Given the description of an element on the screen output the (x, y) to click on. 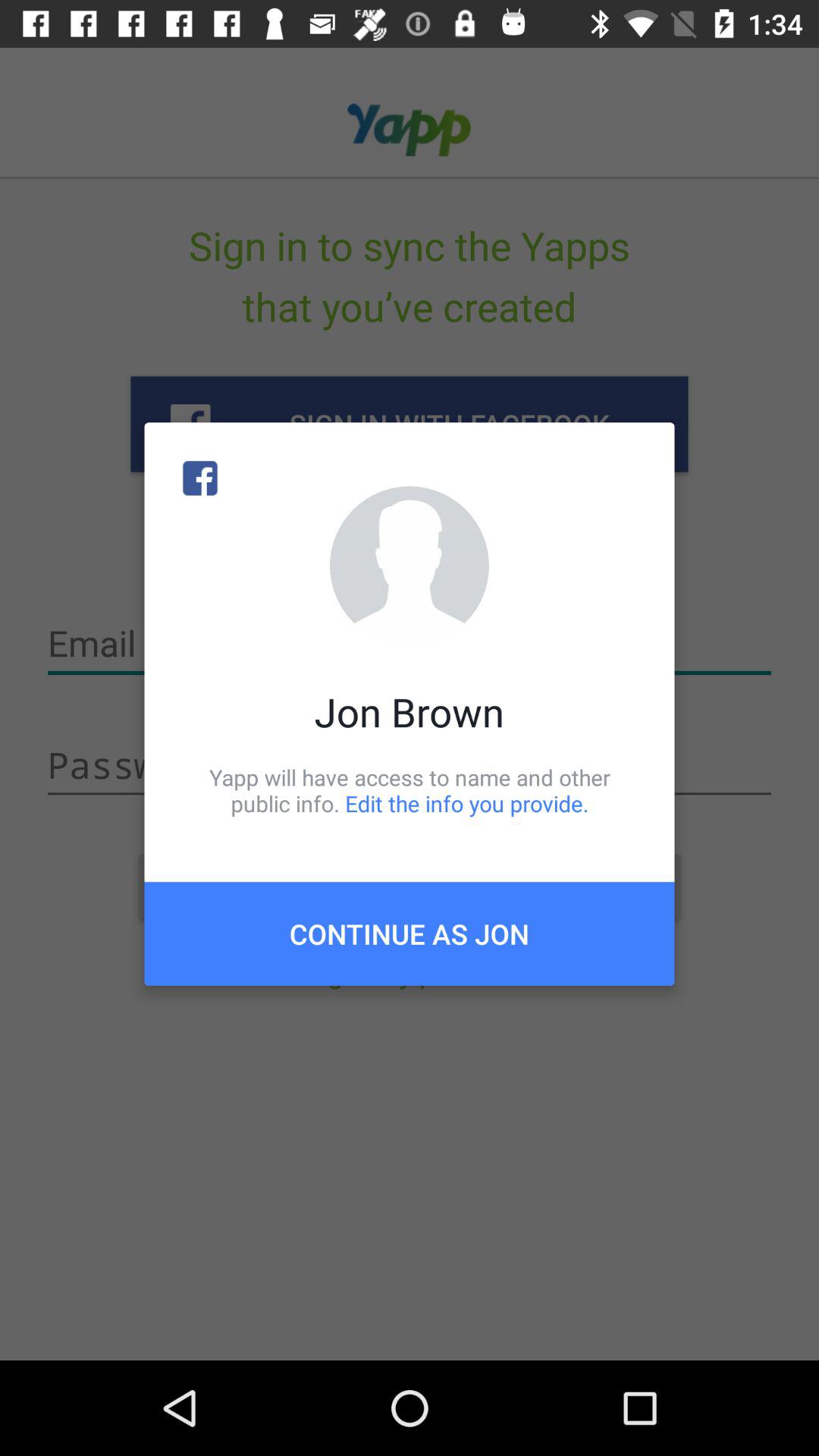
turn on yapp will have item (409, 790)
